Given the description of an element on the screen output the (x, y) to click on. 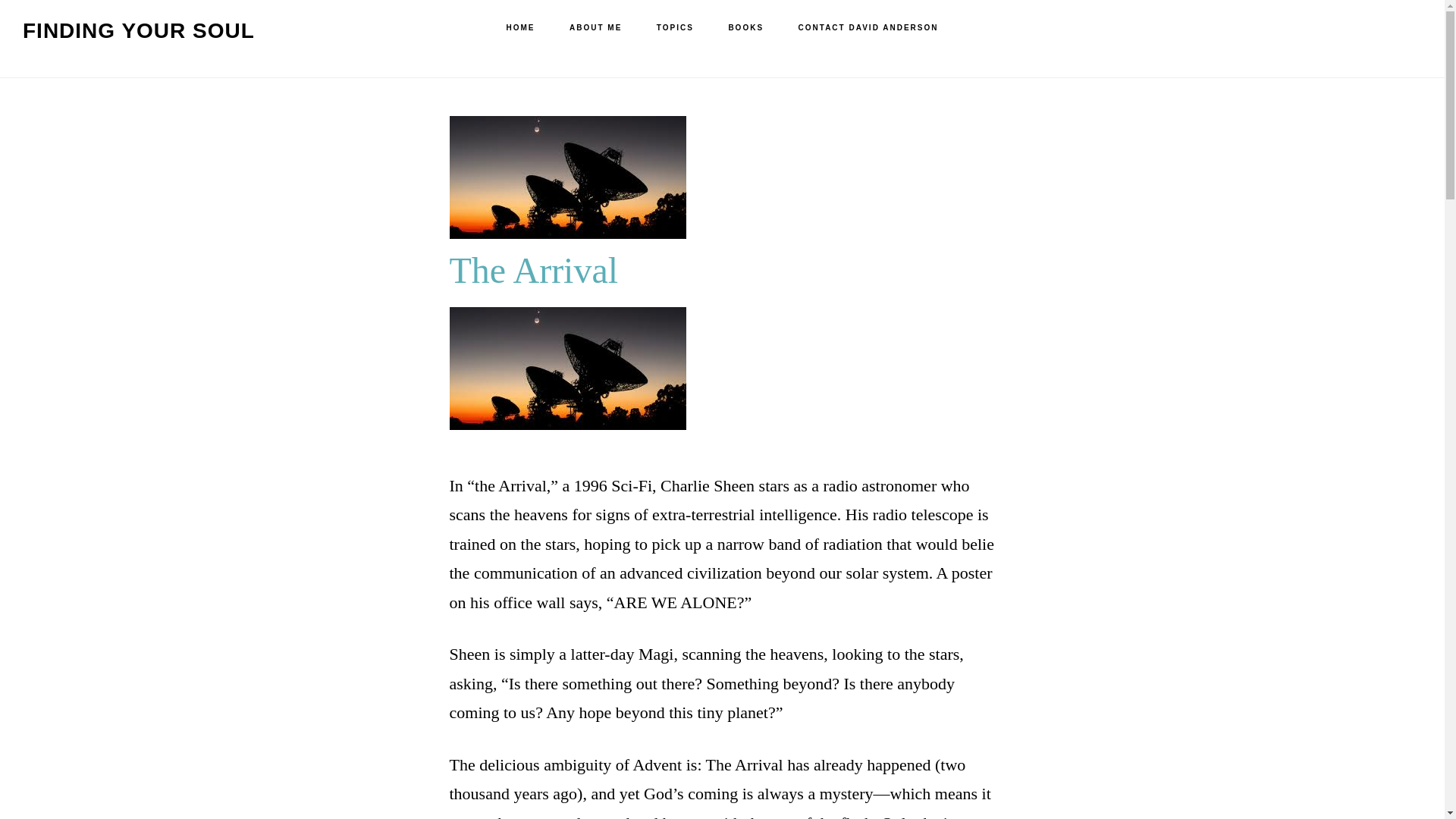
ABOUT ME (595, 27)
BOOKS (745, 27)
SETI (566, 368)
HOME (521, 27)
CONTACT DAVID ANDERSON (868, 27)
FINDING YOUR SOUL (138, 30)
TOPICS (675, 27)
